Given the description of an element on the screen output the (x, y) to click on. 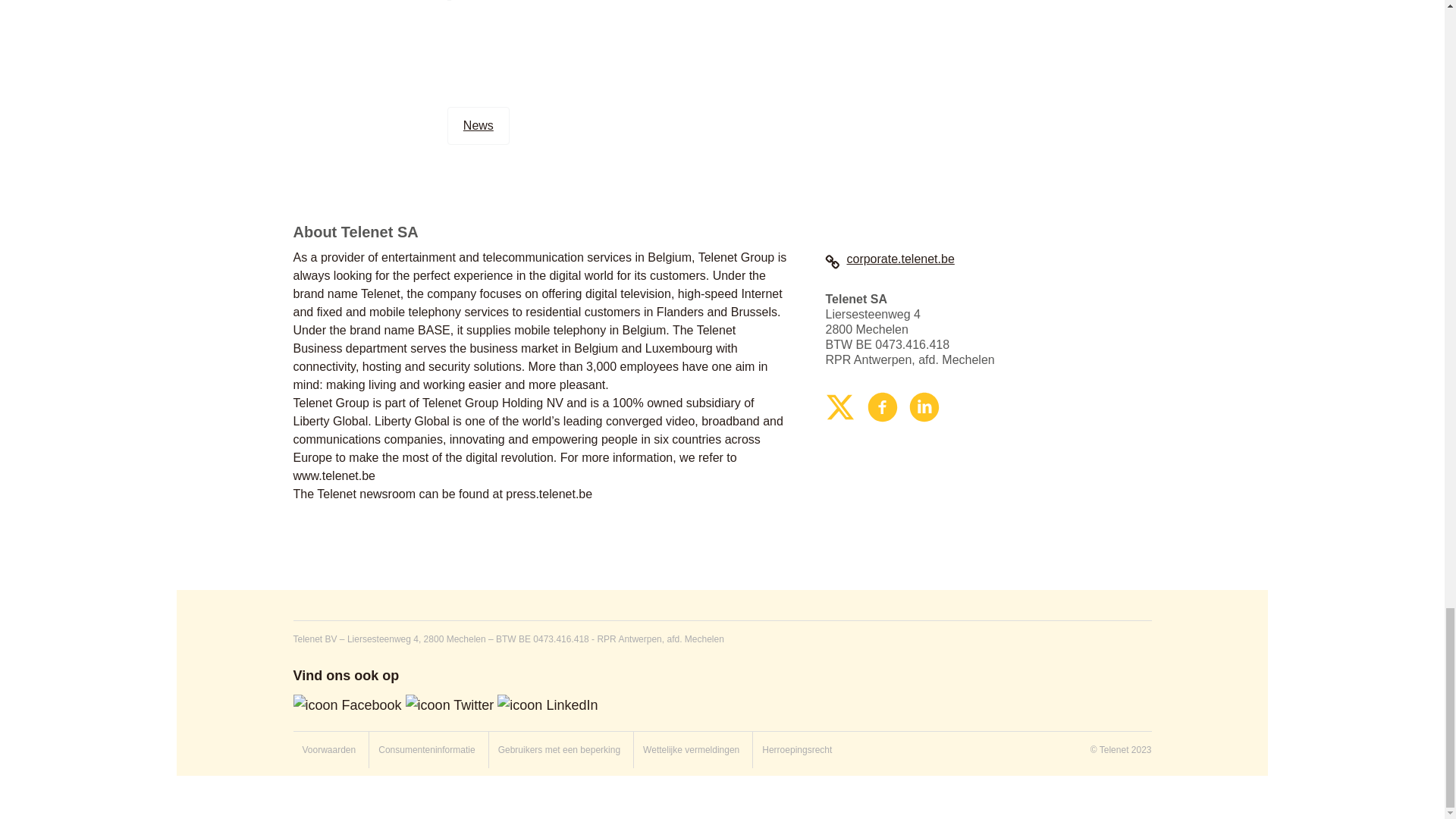
Telenet SA Linkedin (923, 404)
Telenet SA Twitter (840, 404)
corporate.telenet.be (889, 258)
Telenet SA Facebook (882, 404)
